Given the description of an element on the screen output the (x, y) to click on. 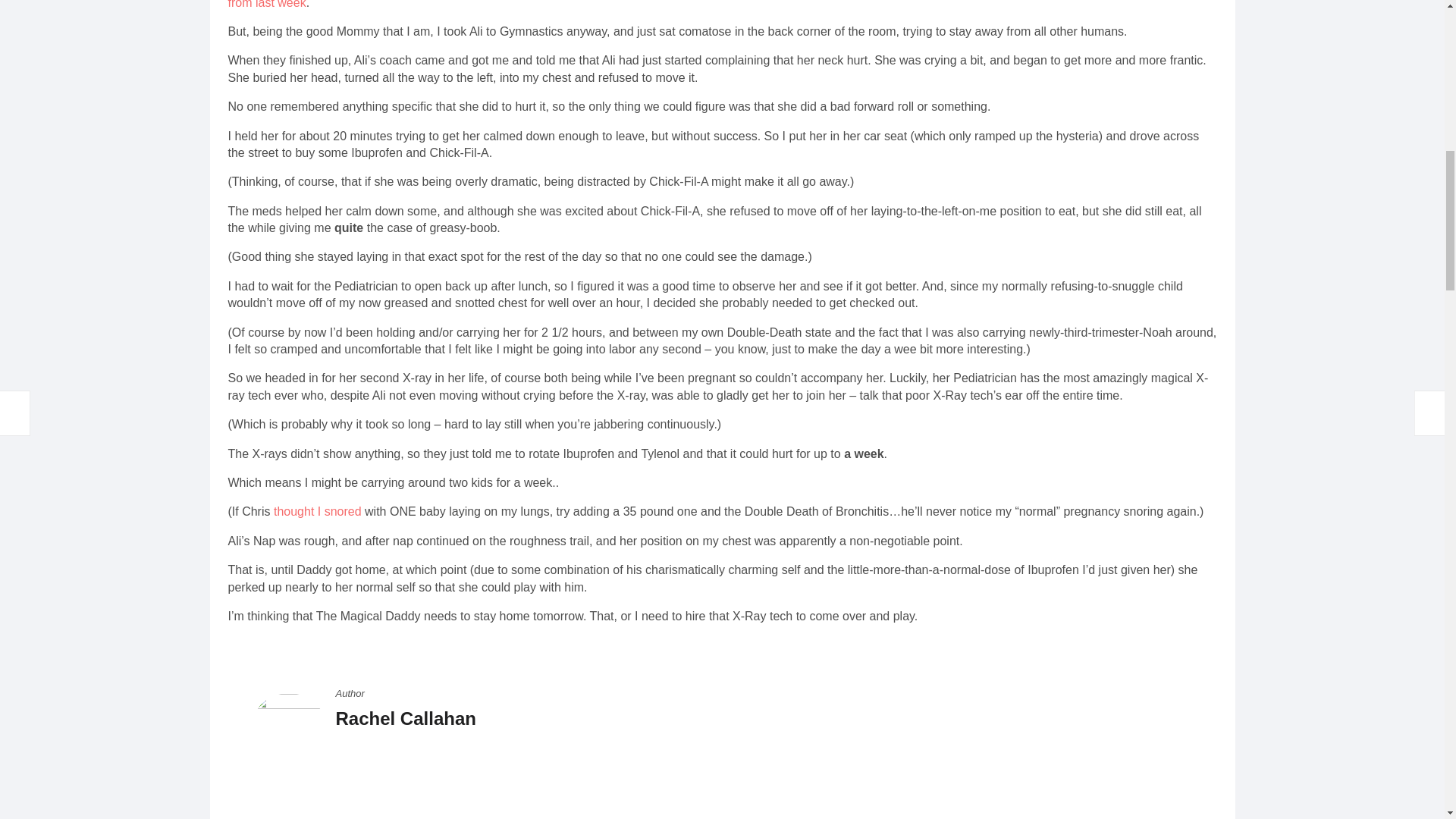
Posts by Rachel Callahan (405, 718)
Rachel Callahan (405, 718)
thought I snored (317, 511)
